Given the description of an element on the screen output the (x, y) to click on. 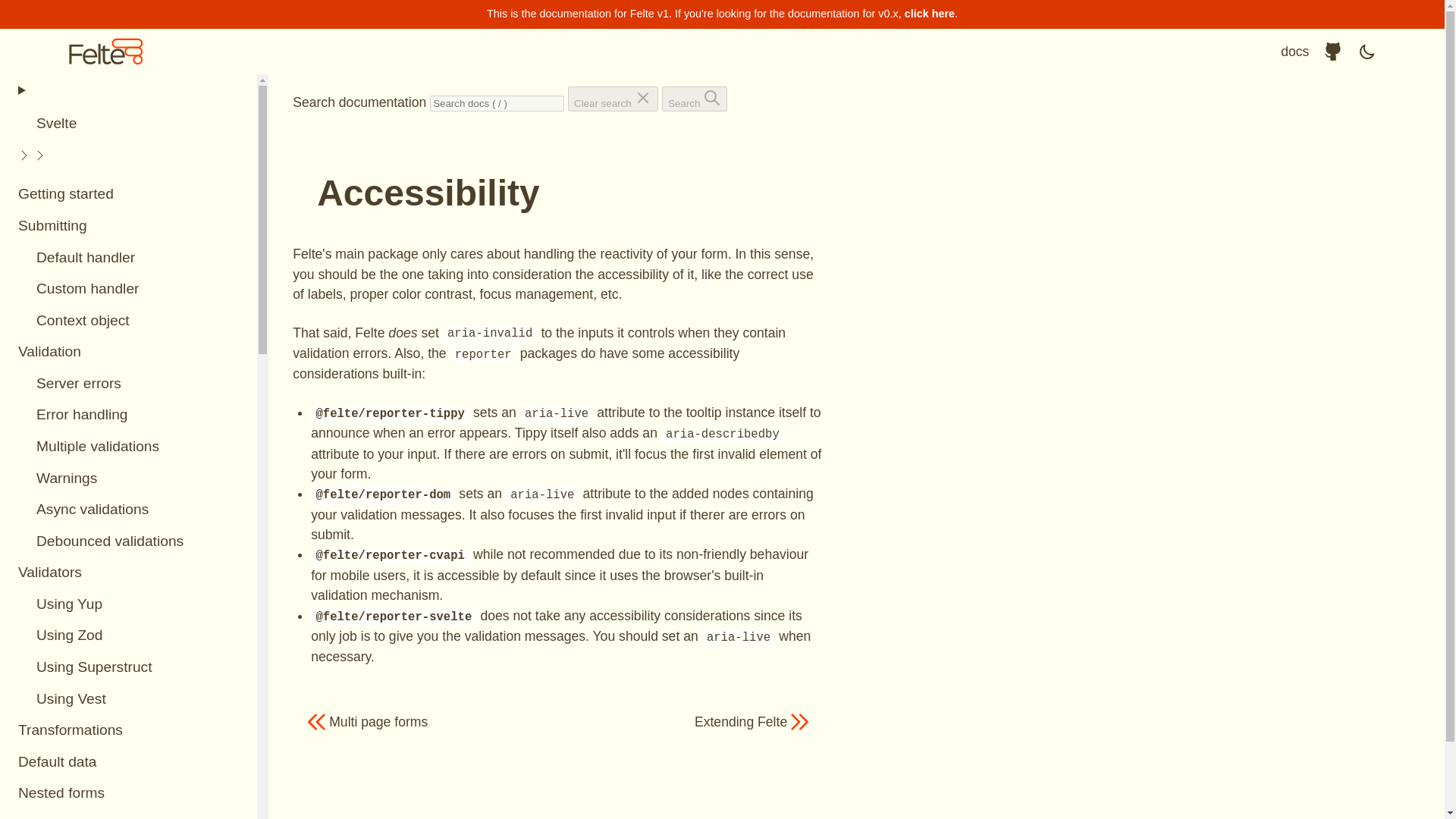
Async validations (128, 510)
Using Superstruct (128, 667)
Getting started (128, 194)
Custom handler (128, 289)
Server errors (128, 383)
Warnings (128, 478)
Multiple validations (128, 447)
docs (1295, 51)
Felte Home (106, 51)
Validators (128, 572)
Dynamic forms (128, 814)
click here (929, 13)
Error handling (128, 415)
Context object (128, 320)
Default data (128, 762)
